Given the description of an element on the screen output the (x, y) to click on. 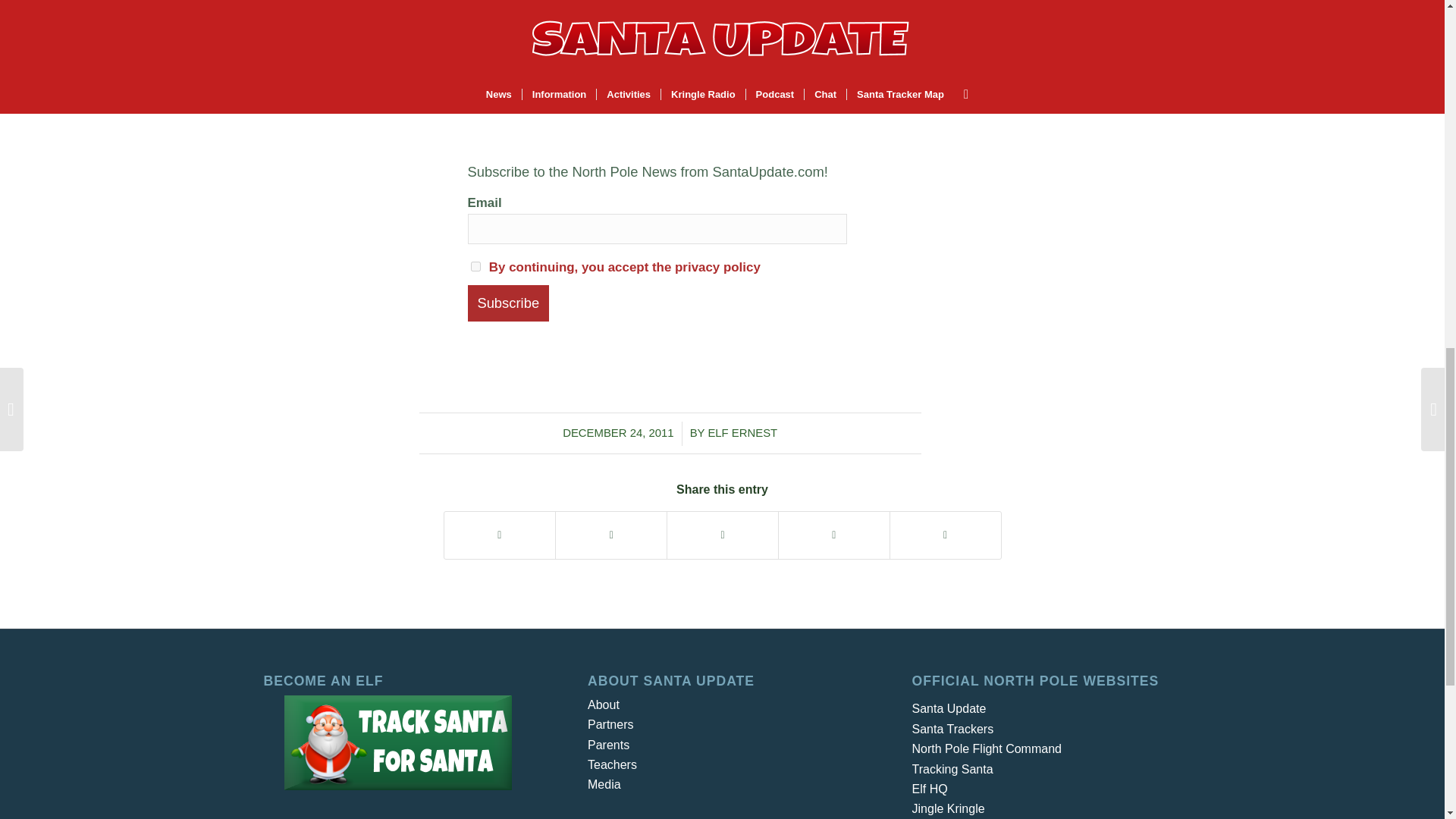
44 (721, 47)
on (475, 266)
Subscribe (507, 303)
Become an Elf (397, 742)
Posts by Elf Ernest (742, 432)
